Given the description of an element on the screen output the (x, y) to click on. 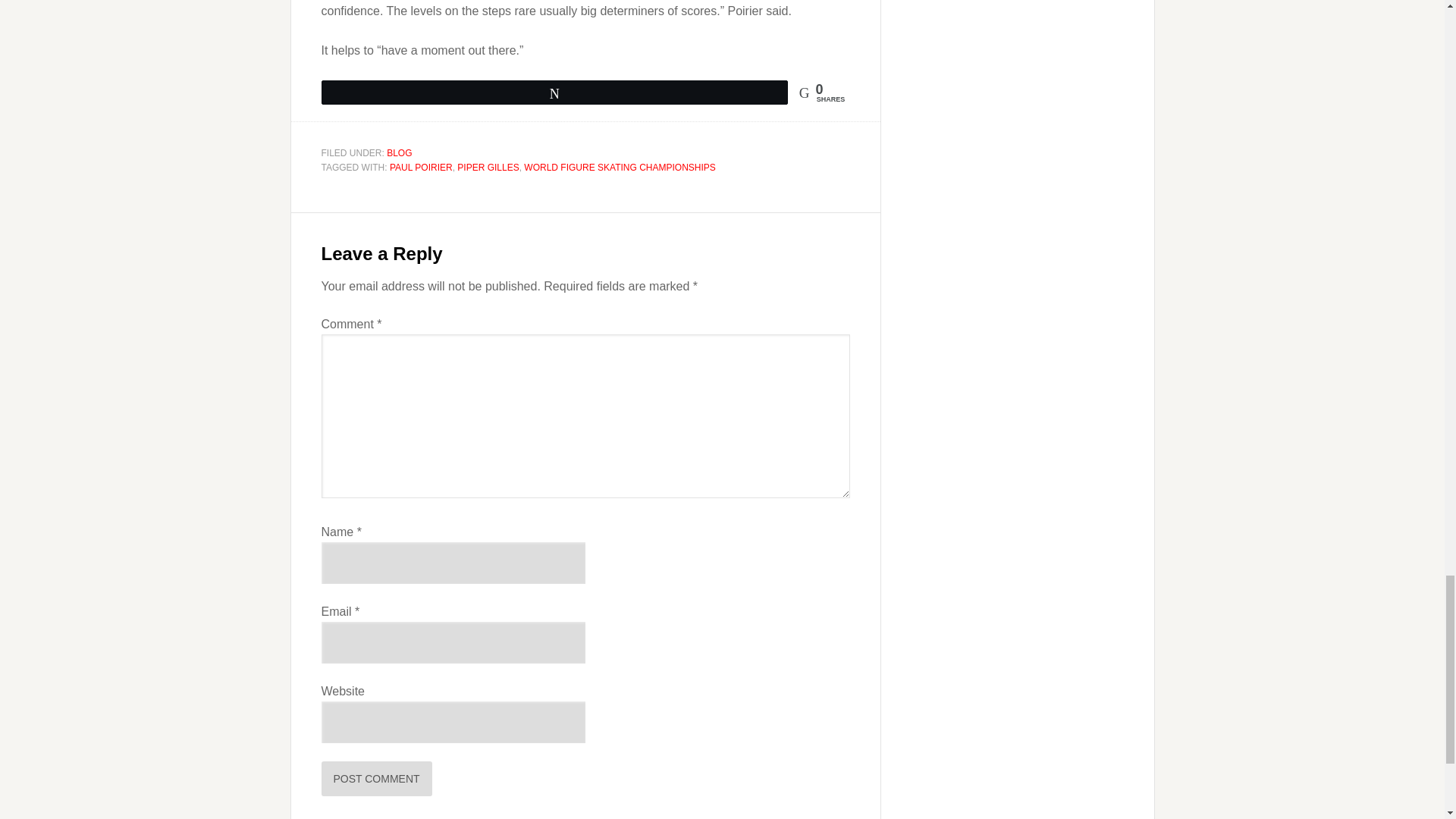
PIPER GILLES (487, 167)
Post Comment (376, 778)
WORLD FIGURE SKATING CHAMPIONSHIPS (619, 167)
BLOG (399, 153)
PAUL POIRIER (421, 167)
Post Comment (376, 778)
